Given the description of an element on the screen output the (x, y) to click on. 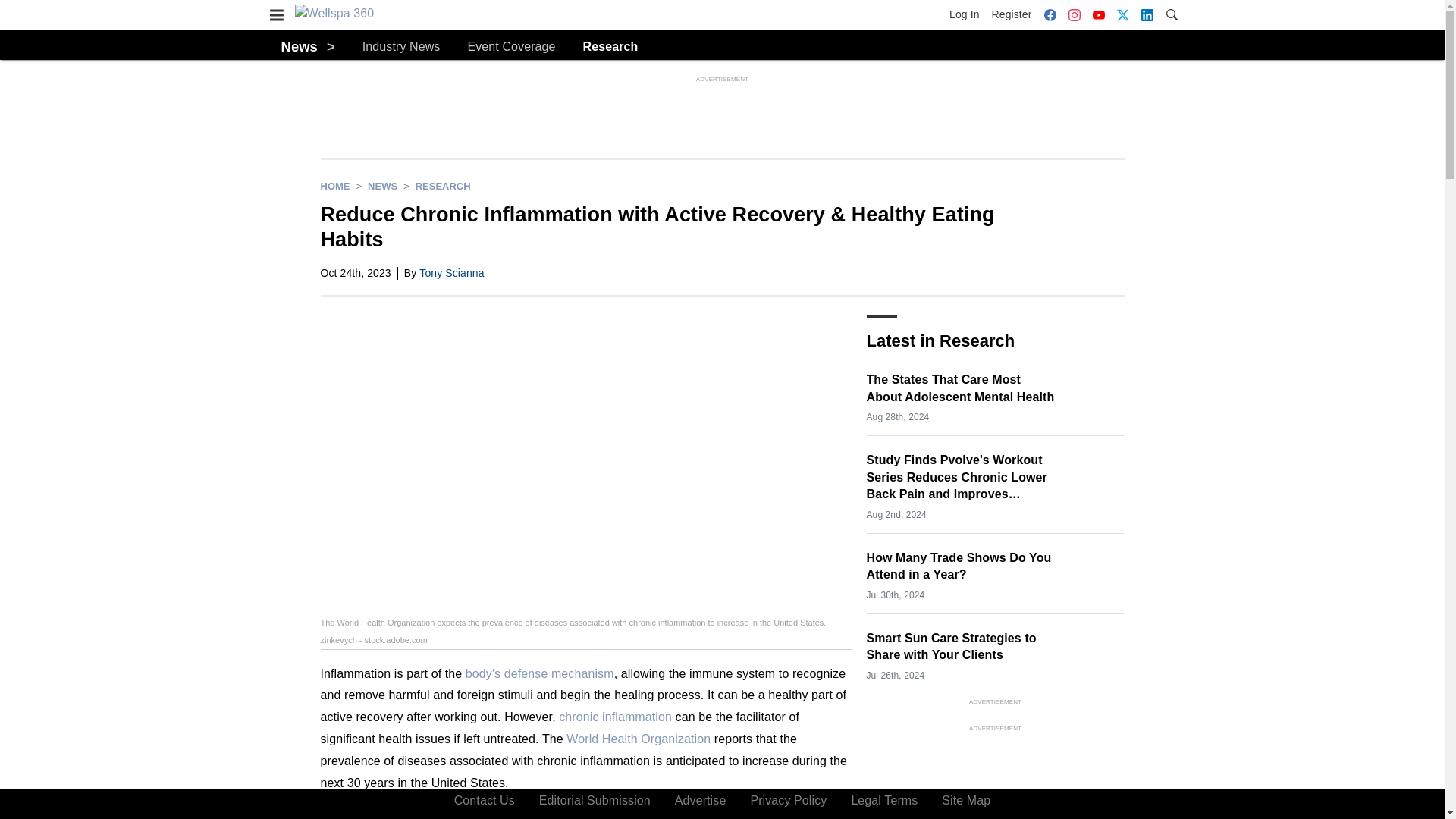
Home (334, 185)
Twitter X icon (1122, 15)
LinkedIn icon (1146, 15)
Log In (967, 14)
Research (611, 46)
NEWS (382, 185)
Instagram icon (1073, 15)
Facebook icon (1049, 15)
Search (1170, 13)
Twitter X icon (1121, 14)
